Given the description of an element on the screen output the (x, y) to click on. 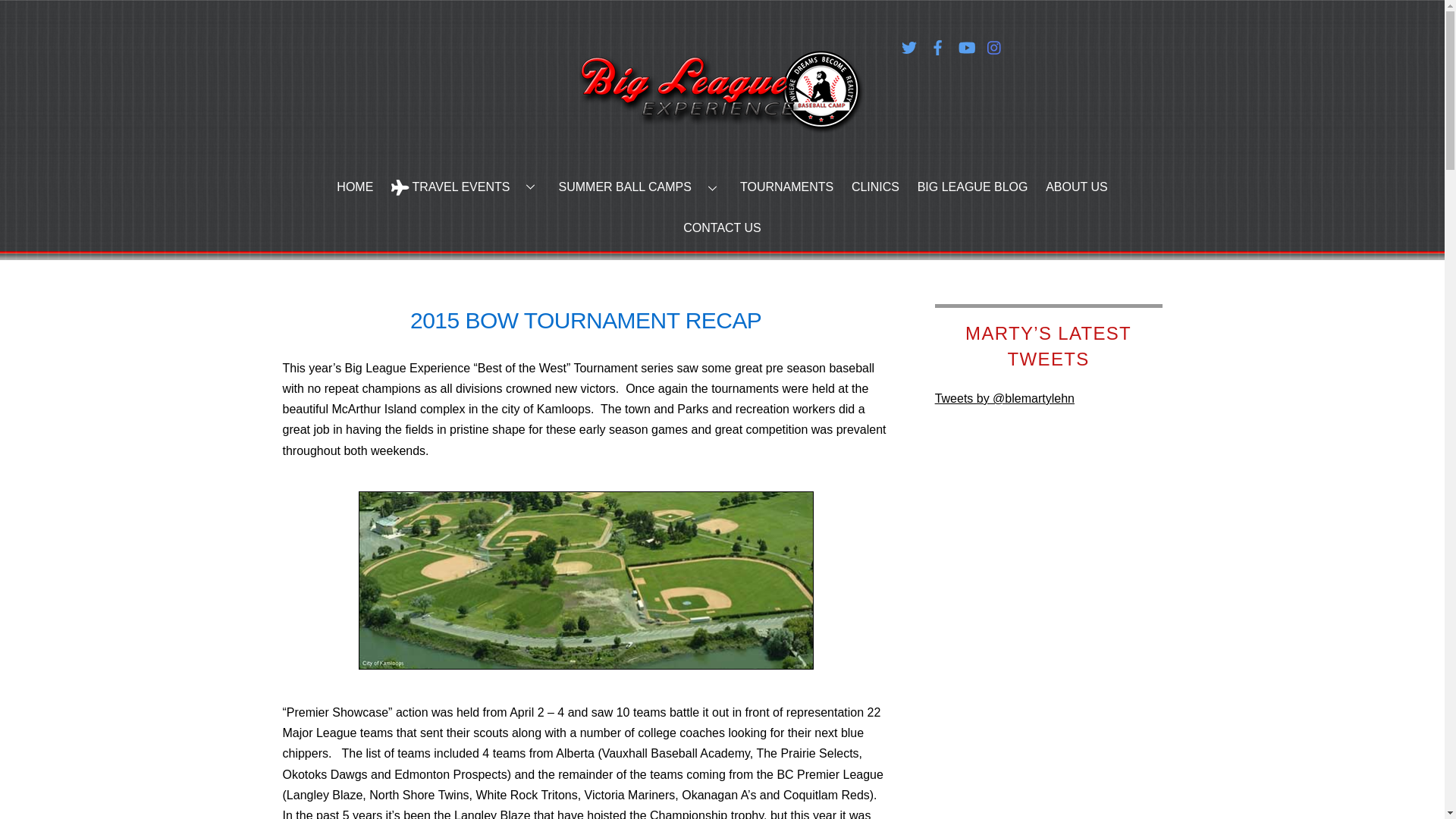
TOURNAMENTS (786, 196)
TRAVEL EVENTS (465, 195)
Big league Experience (722, 118)
BIG LEAGUE BLOG (972, 196)
CONTACT US (722, 237)
badgecombonew-white-center (722, 90)
2015 BOW TOURNAMENT RECAP (585, 319)
SUMMER BALL CAMPS (640, 196)
CLINICS (874, 196)
